Given the description of an element on the screen output the (x, y) to click on. 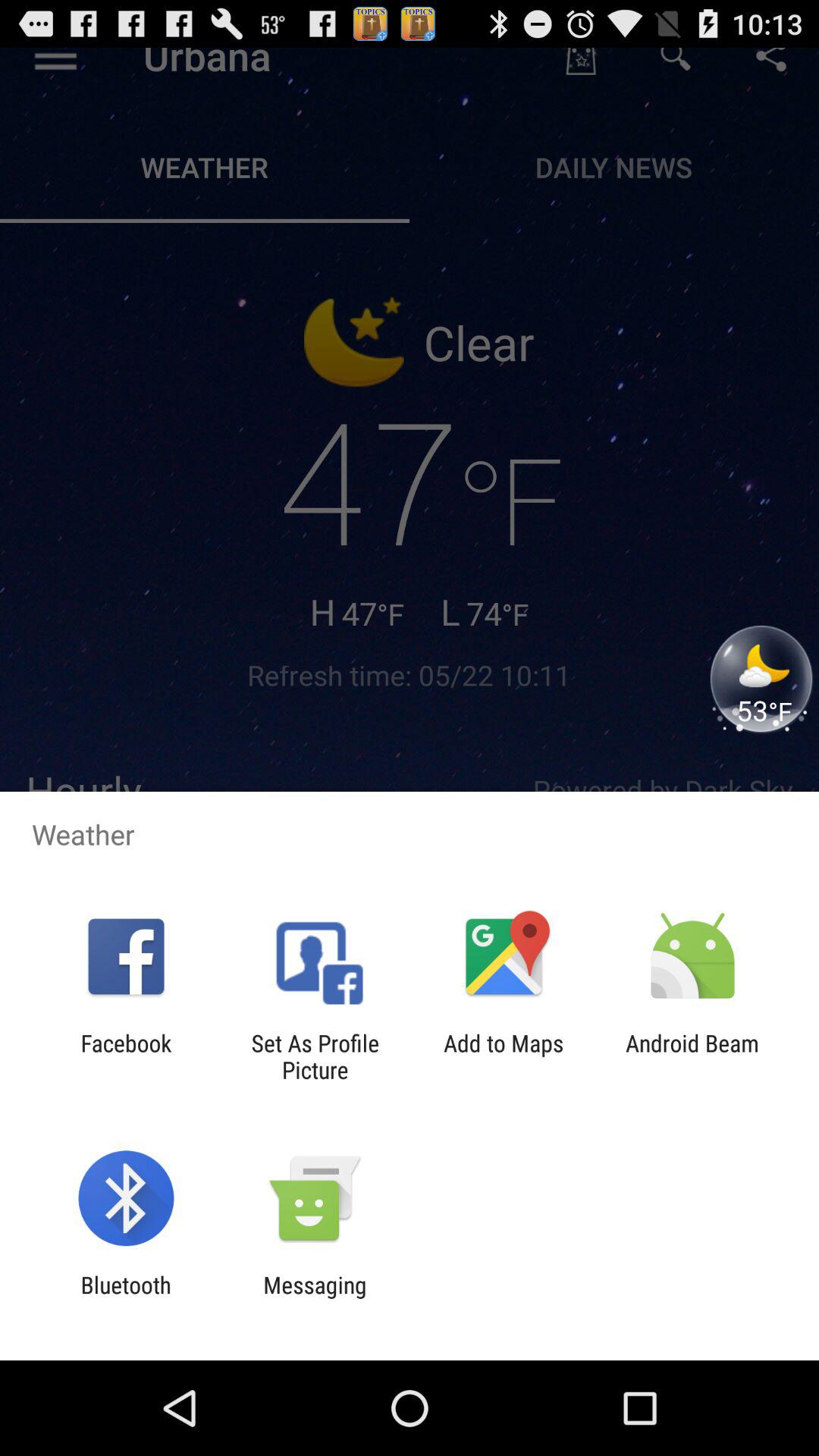
select facebook (125, 1056)
